Given the description of an element on the screen output the (x, y) to click on. 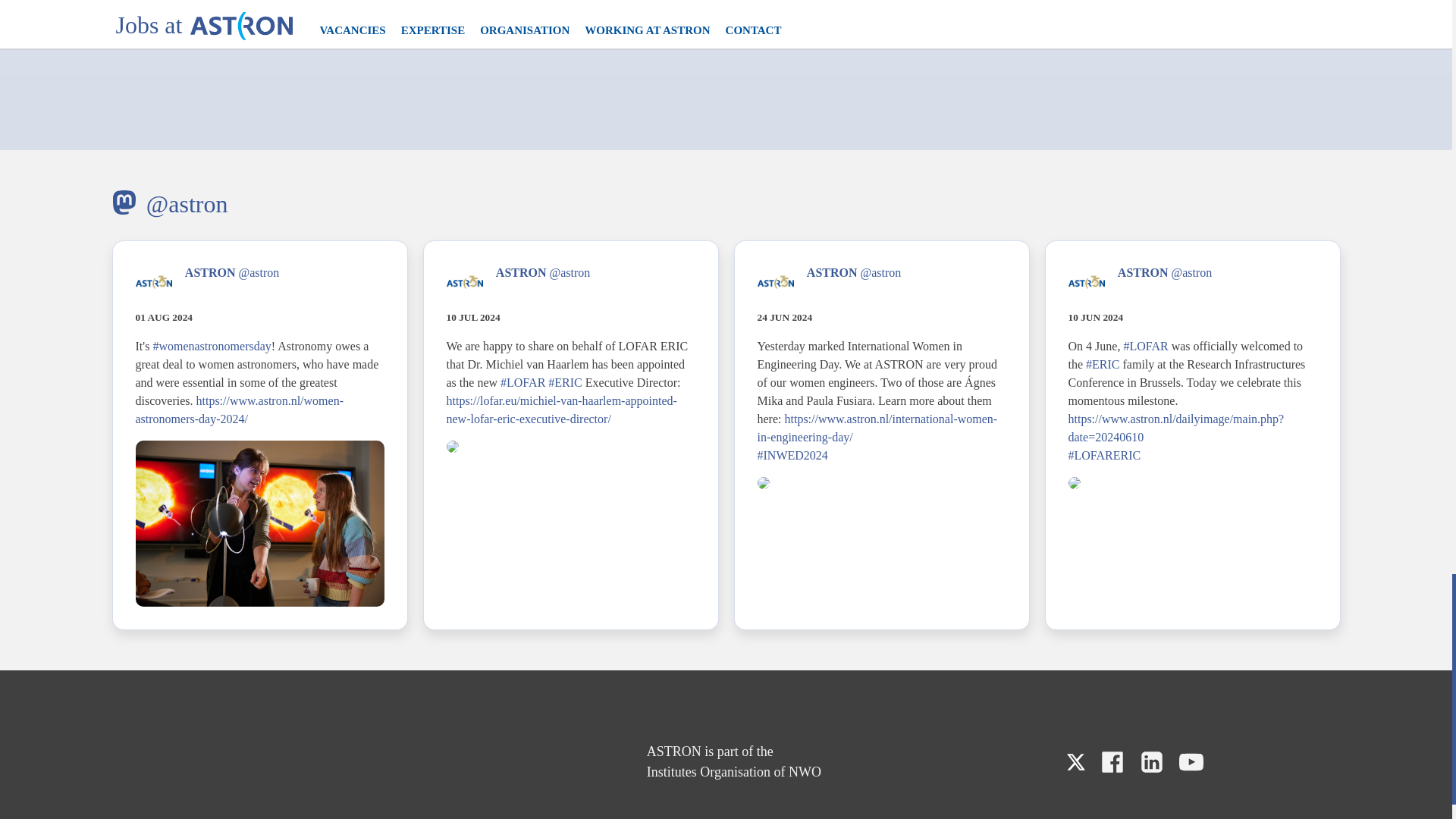
ASTRON (521, 272)
ASTRON (209, 272)
ASTRON (831, 272)
